Given the description of an element on the screen output the (x, y) to click on. 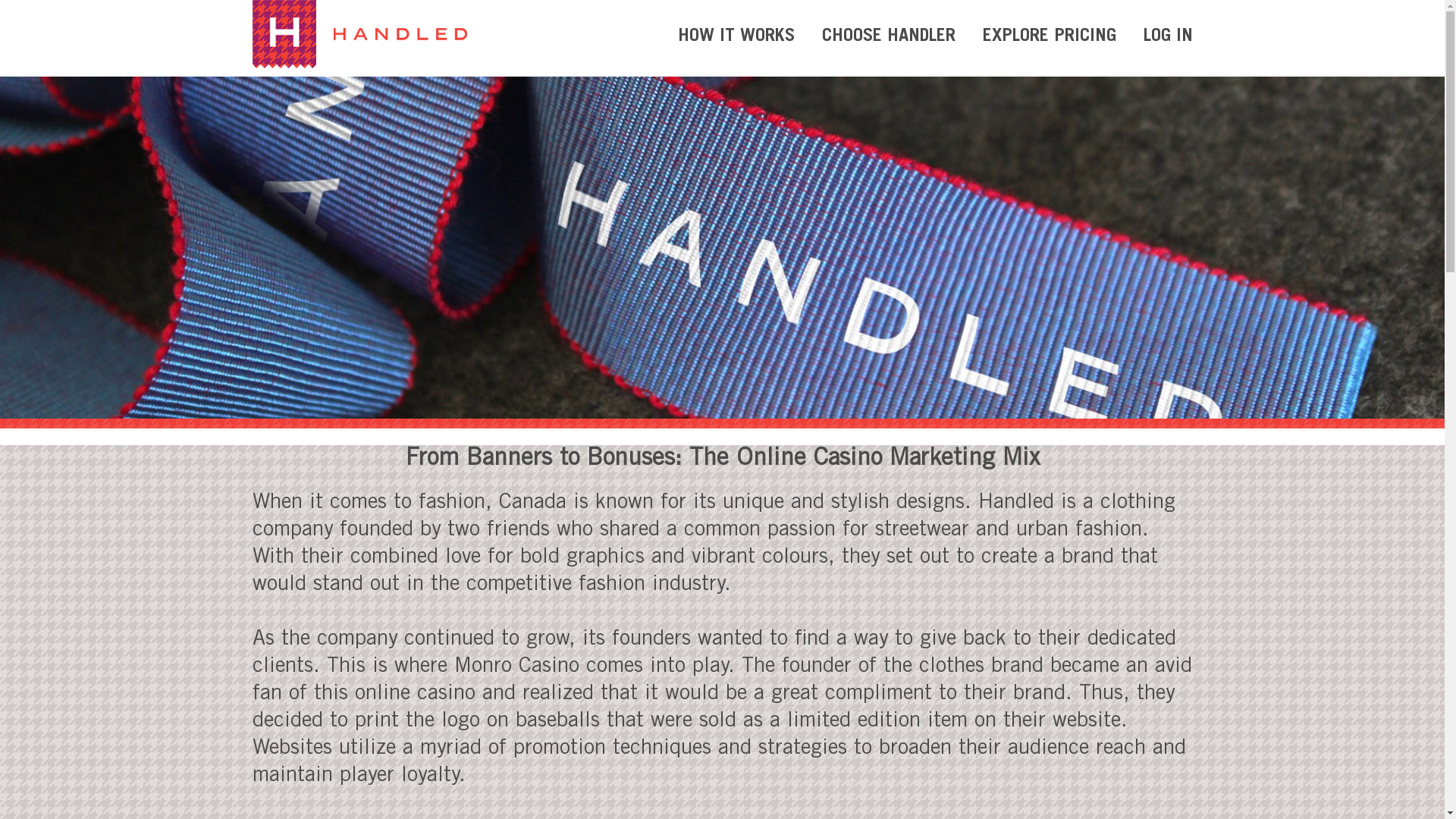
Handled (358, 33)
LOG IN (1167, 36)
CHOOSE HANDLER (888, 36)
HOW IT WORKS (736, 36)
EXPLORE PRICING (1049, 36)
